Given the description of an element on the screen output the (x, y) to click on. 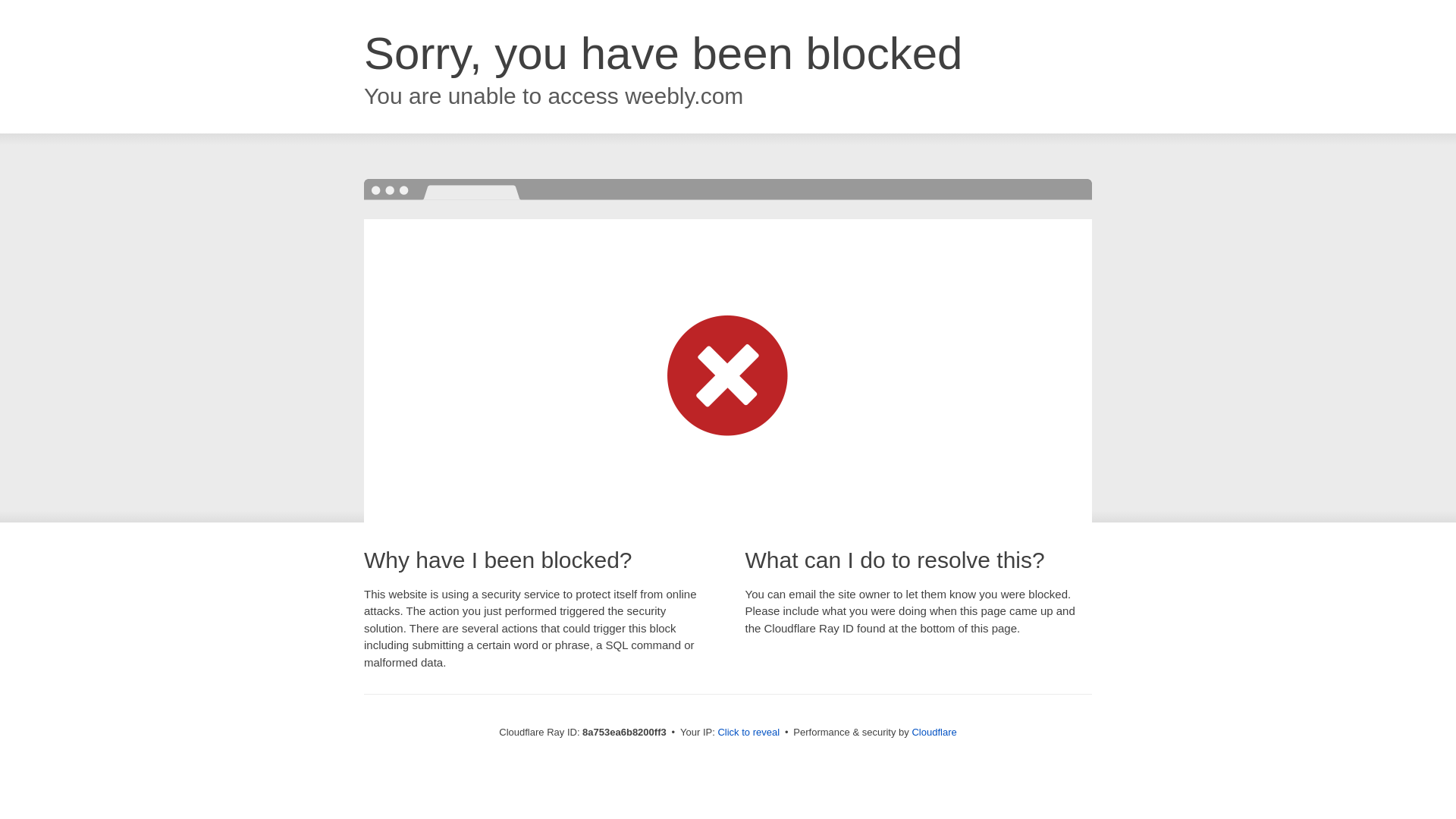
Click to reveal (747, 732)
Cloudflare (933, 731)
